Given the description of an element on the screen output the (x, y) to click on. 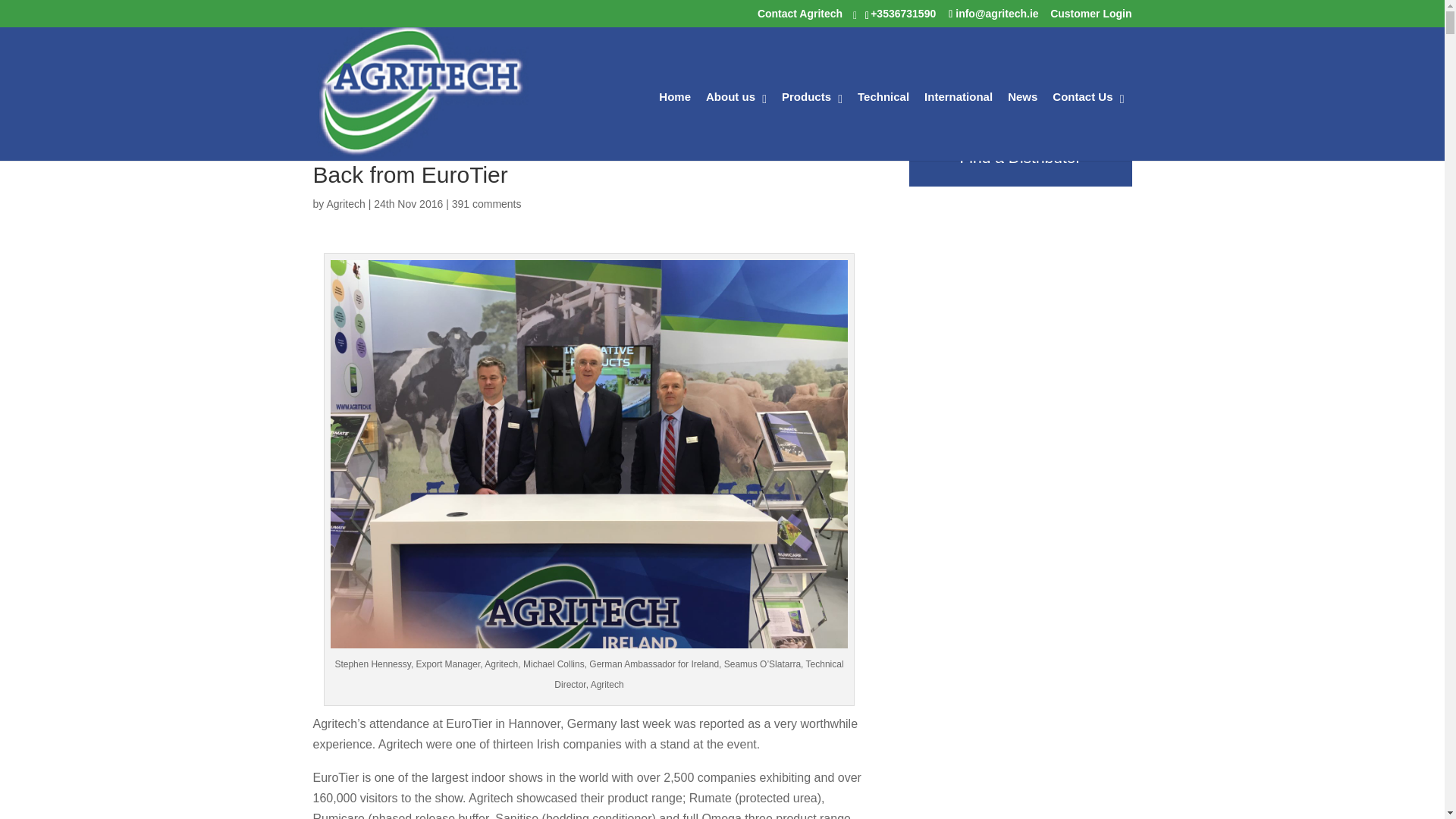
Customer Login (1090, 13)
Posts by Agritech (345, 203)
About us (736, 118)
Products (812, 118)
